Given the description of an element on the screen output the (x, y) to click on. 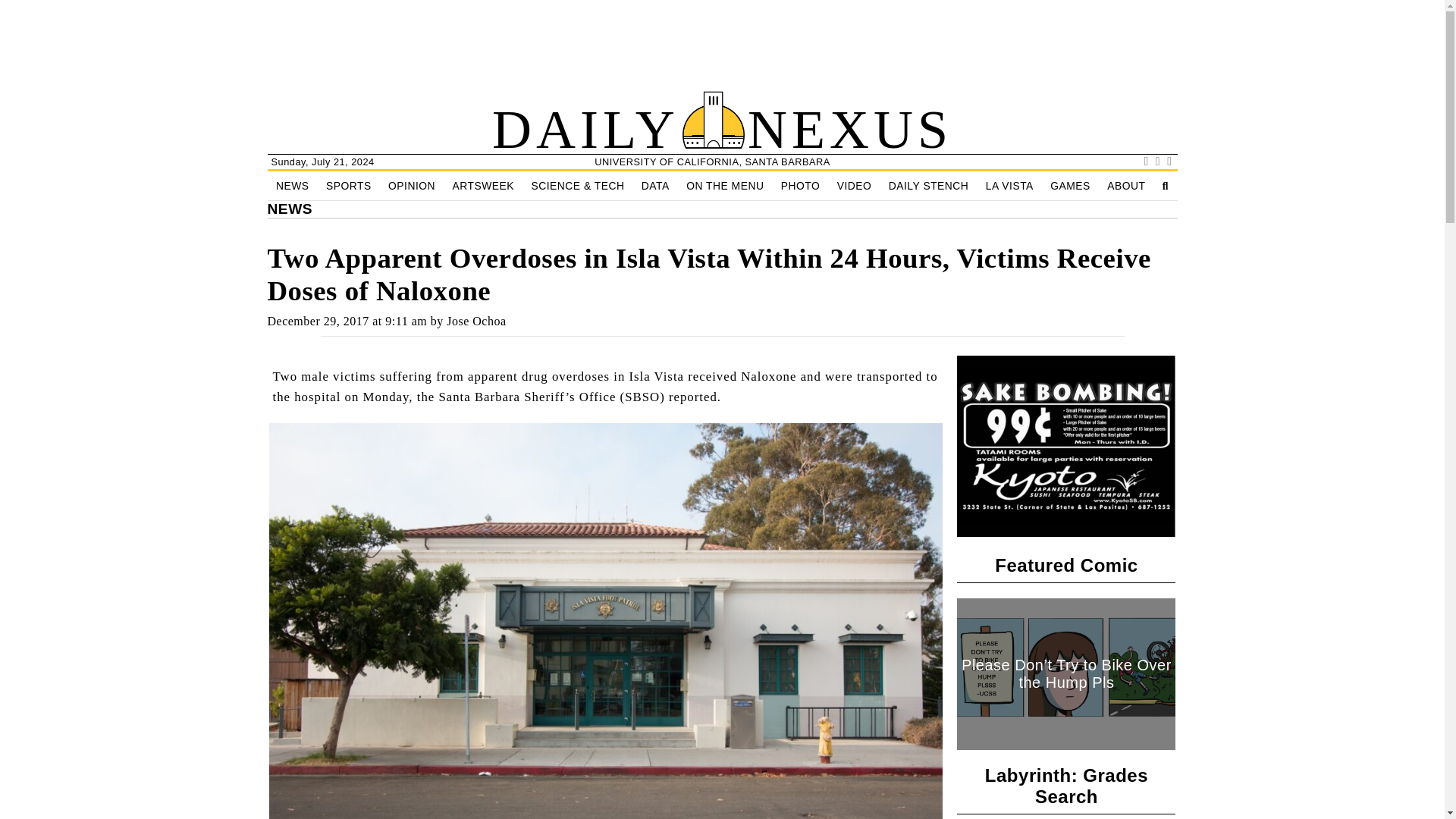
Posts by Jose Ochoa (475, 320)
